Given the description of an element on the screen output the (x, y) to click on. 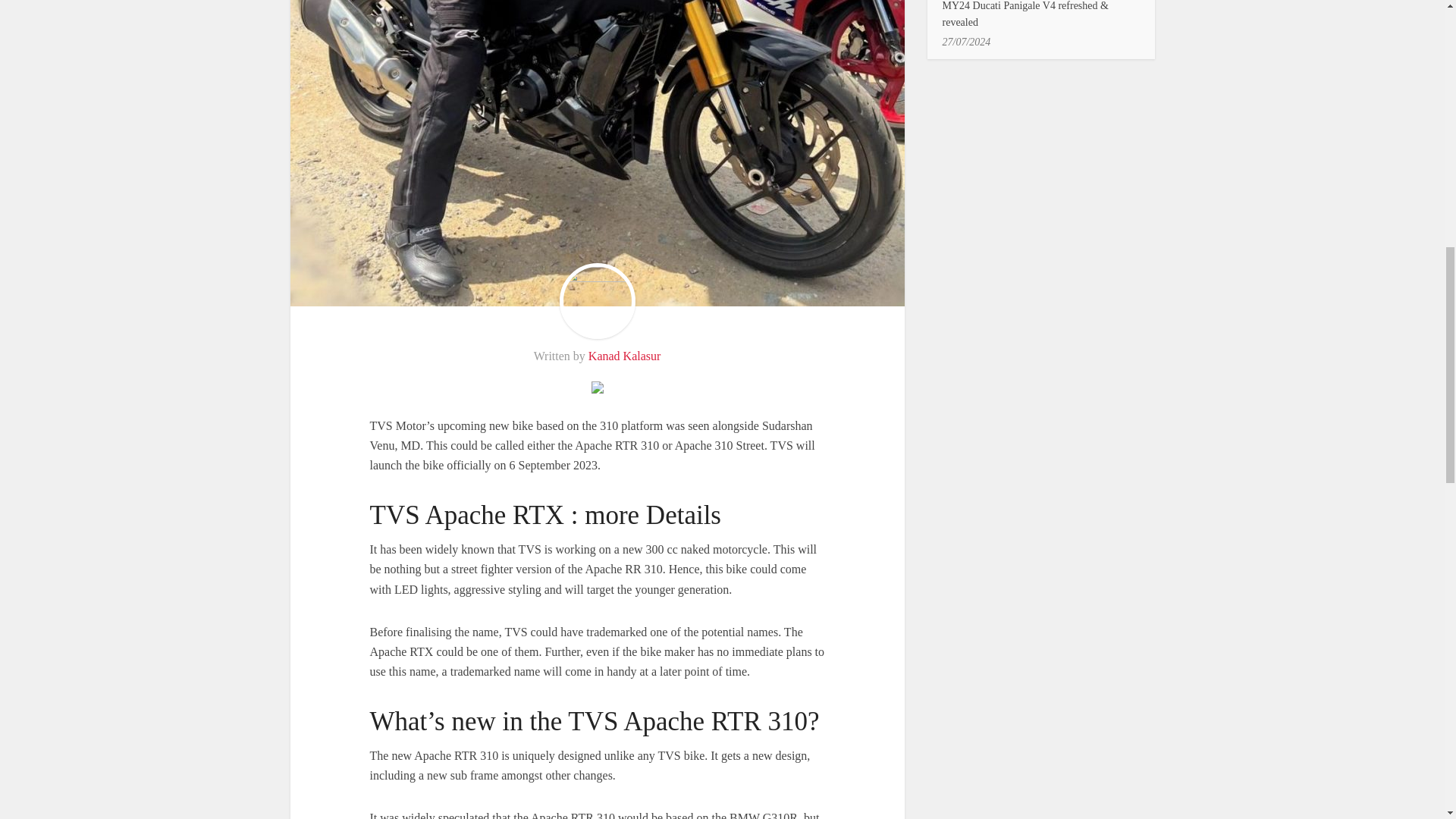
Kanad Kalasur (624, 355)
